Given the description of an element on the screen output the (x, y) to click on. 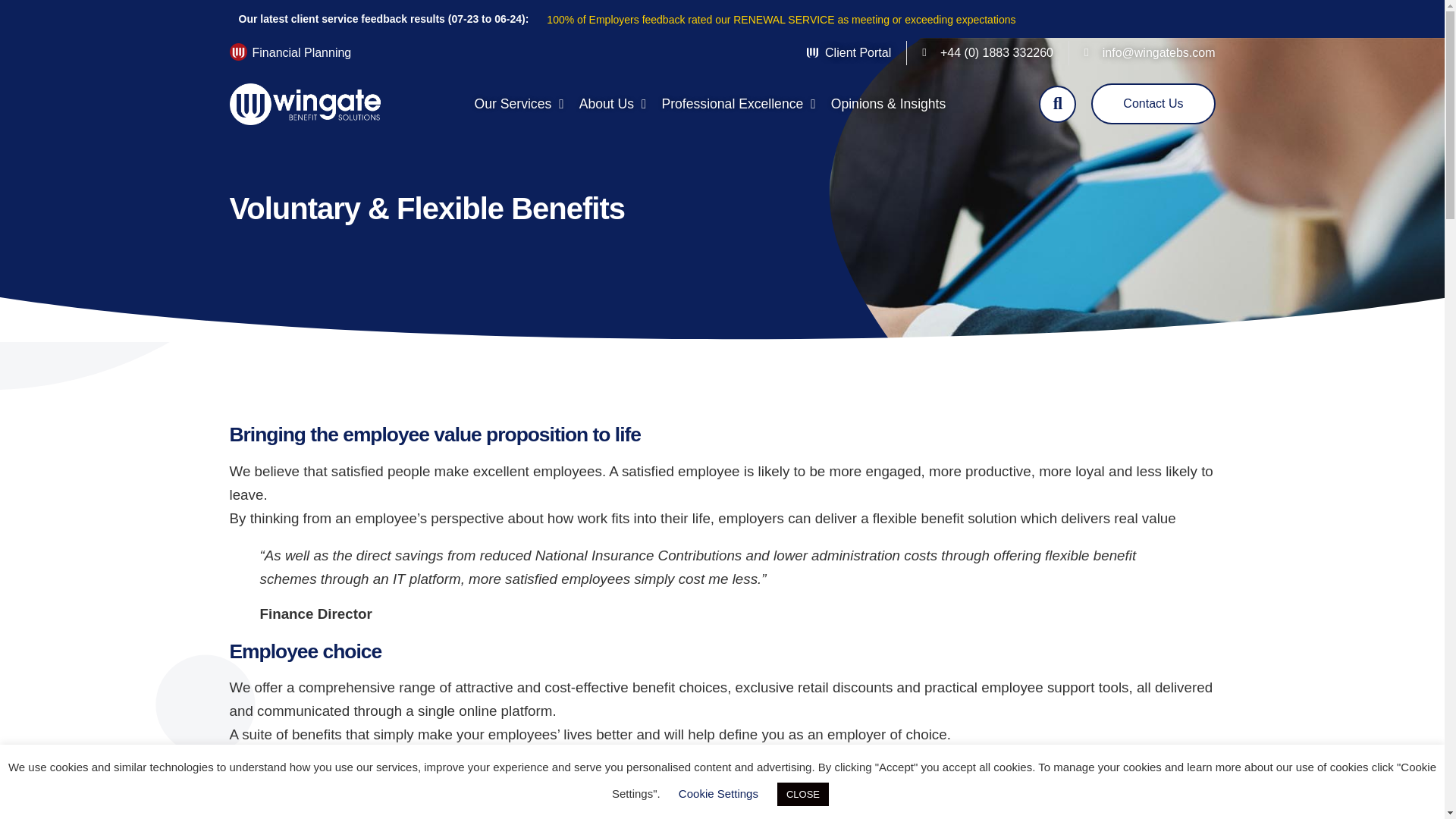
About Us (612, 103)
Client Portal (848, 52)
Our Services (519, 103)
Professional Excellence (738, 103)
Financial Planning (300, 51)
